Given the description of an element on the screen output the (x, y) to click on. 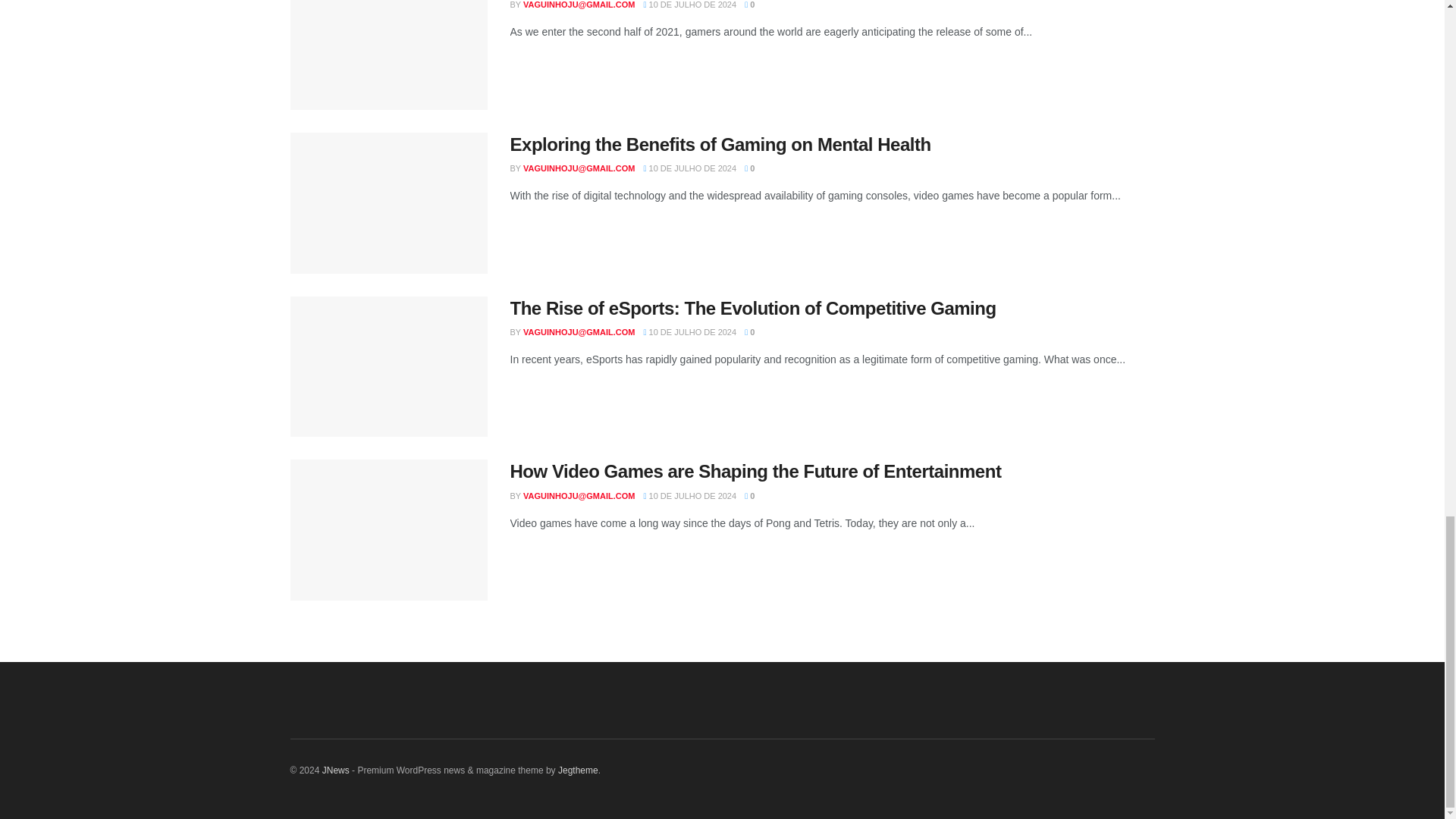
Jegtheme (577, 769)
